Given the description of an element on the screen output the (x, y) to click on. 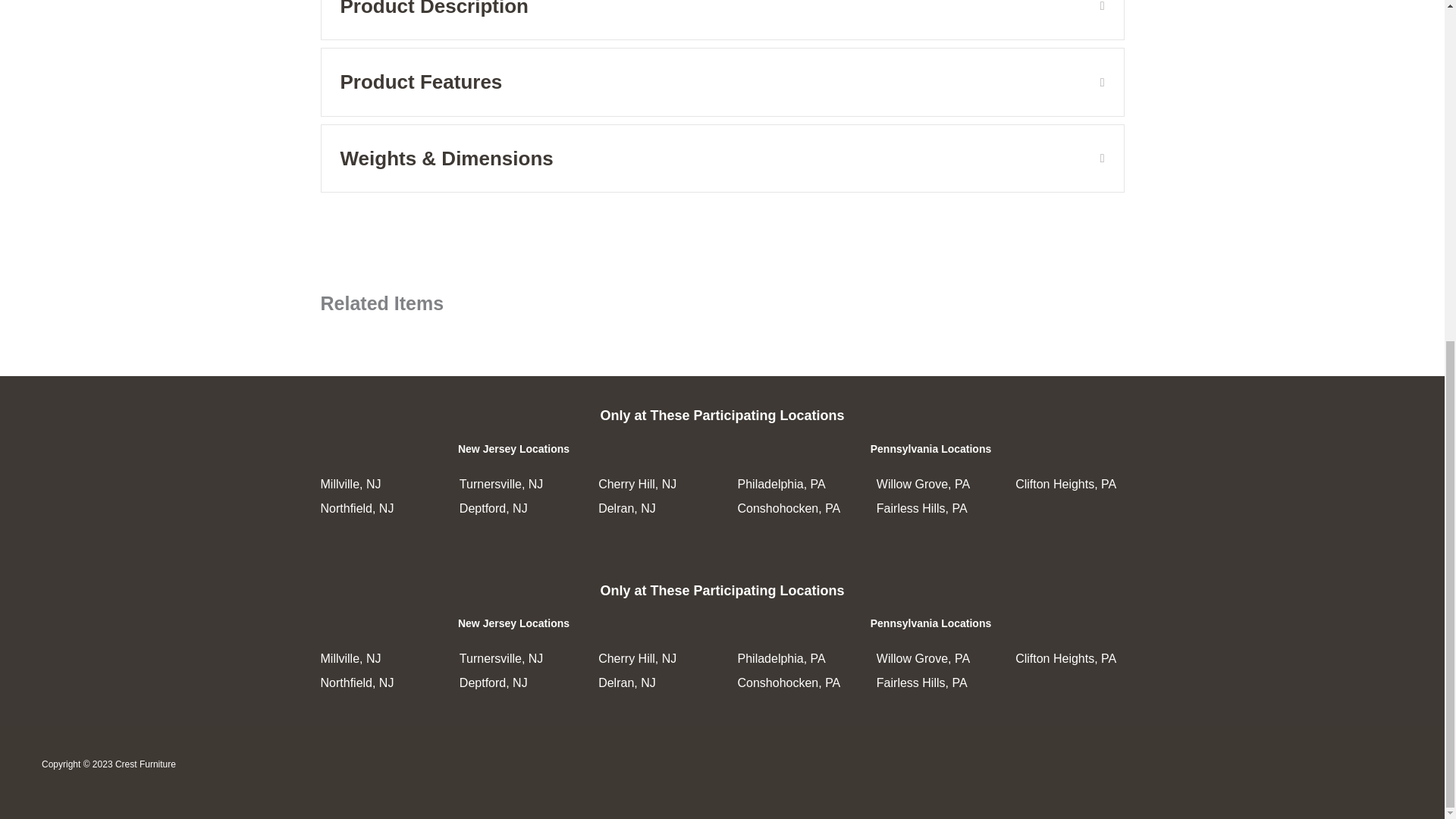
Willow Grove, PA (922, 658)
Clifton Heights, PA (1065, 658)
Collapse (1091, 12)
Deptford, NJ (493, 682)
Northfield, NJ (356, 682)
Delran, NJ (627, 682)
Philadelphia, PA (780, 658)
Cherry Hill, NJ (637, 658)
Product Description (708, 12)
Conshohocken, PA (788, 682)
